Given the description of an element on the screen output the (x, y) to click on. 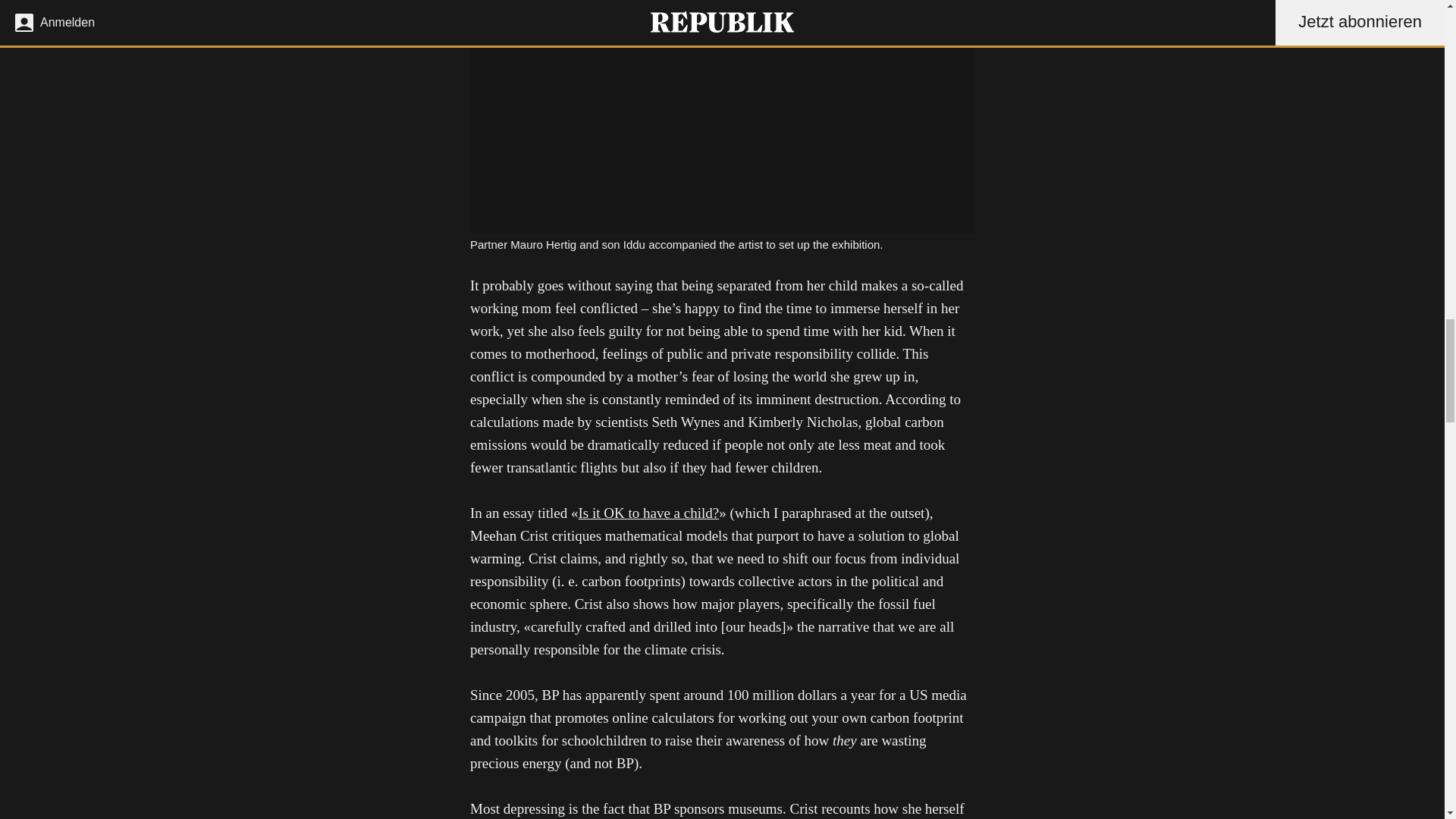
Is it OK to have a child? (648, 512)
